Given the description of an element on the screen output the (x, y) to click on. 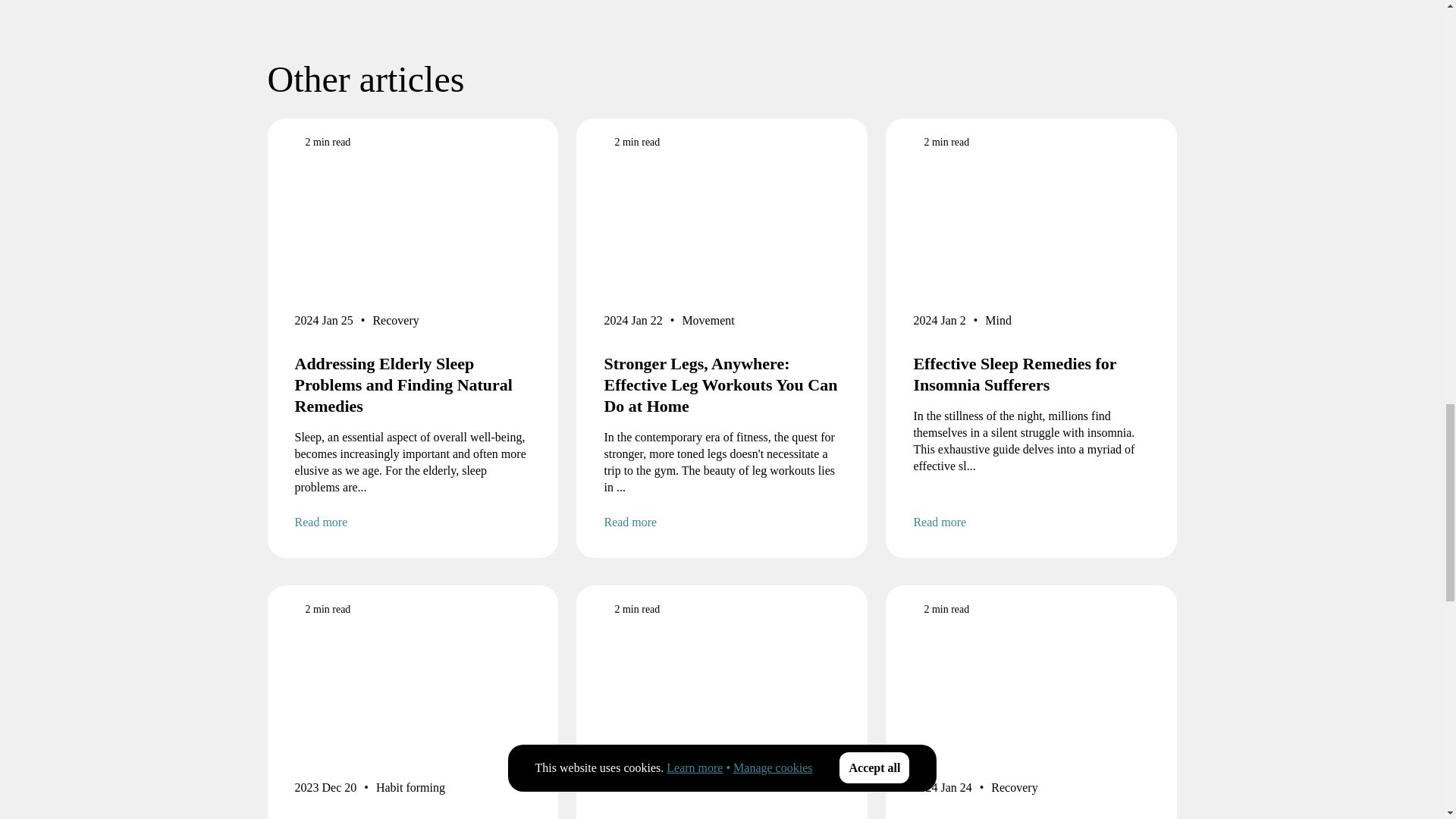
Read more (1031, 522)
Movement (707, 323)
Effective Sleep Remedies for Insomnia Sufferers (1031, 373)
Habit forming (410, 790)
Mind (998, 323)
Recovery (395, 323)
Read more (412, 522)
Read more (722, 522)
